Given the description of an element on the screen output the (x, y) to click on. 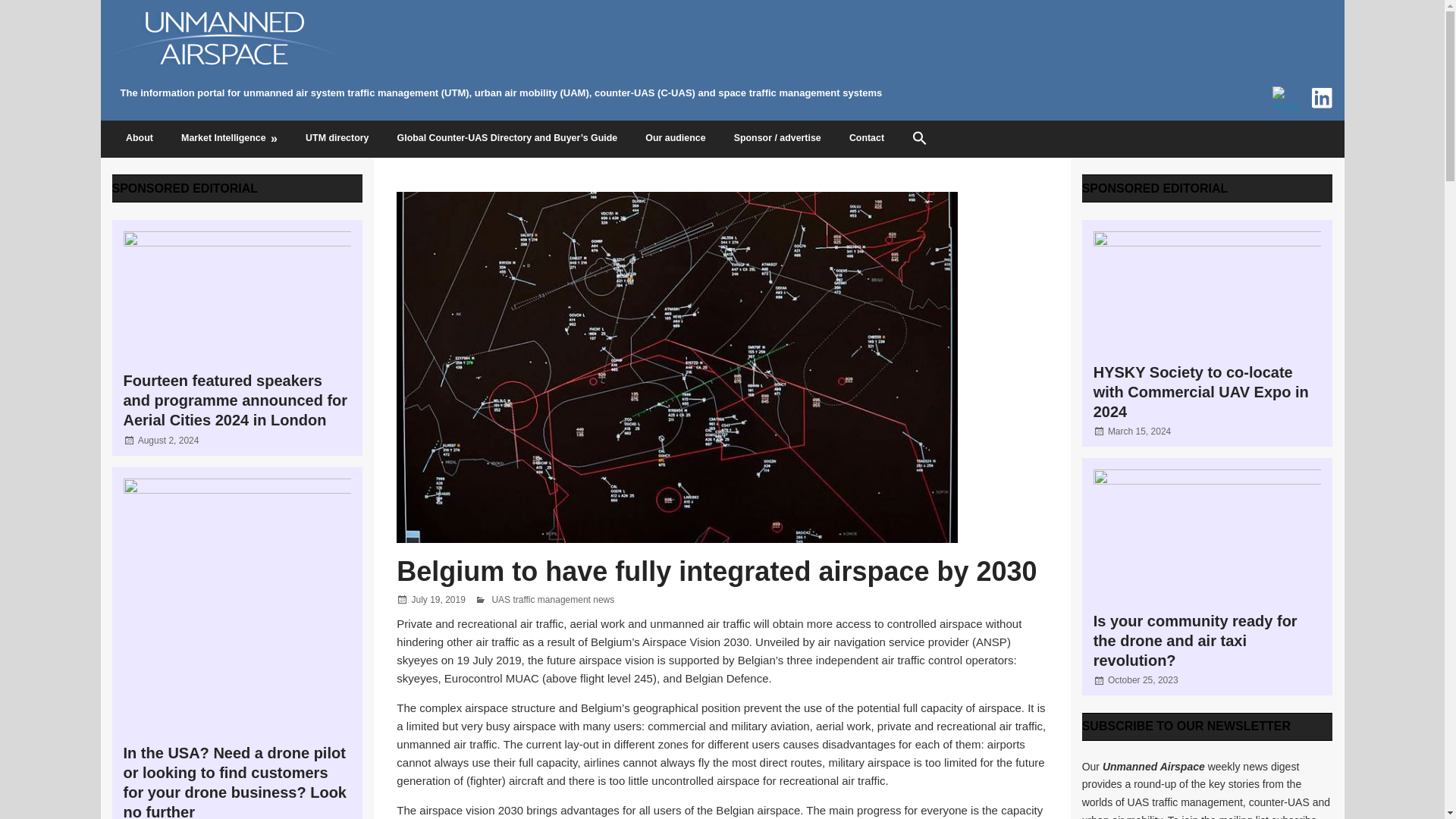
9:00 am (1142, 679)
SPONSORED EDITORIAL (185, 187)
UAS traffic management news (553, 599)
View all posts from category Sponsored editorial 1 (185, 187)
July 19, 2019 (437, 599)
UTM directory (338, 138)
Our audience (675, 138)
2:01 pm (168, 439)
